Given the description of an element on the screen output the (x, y) to click on. 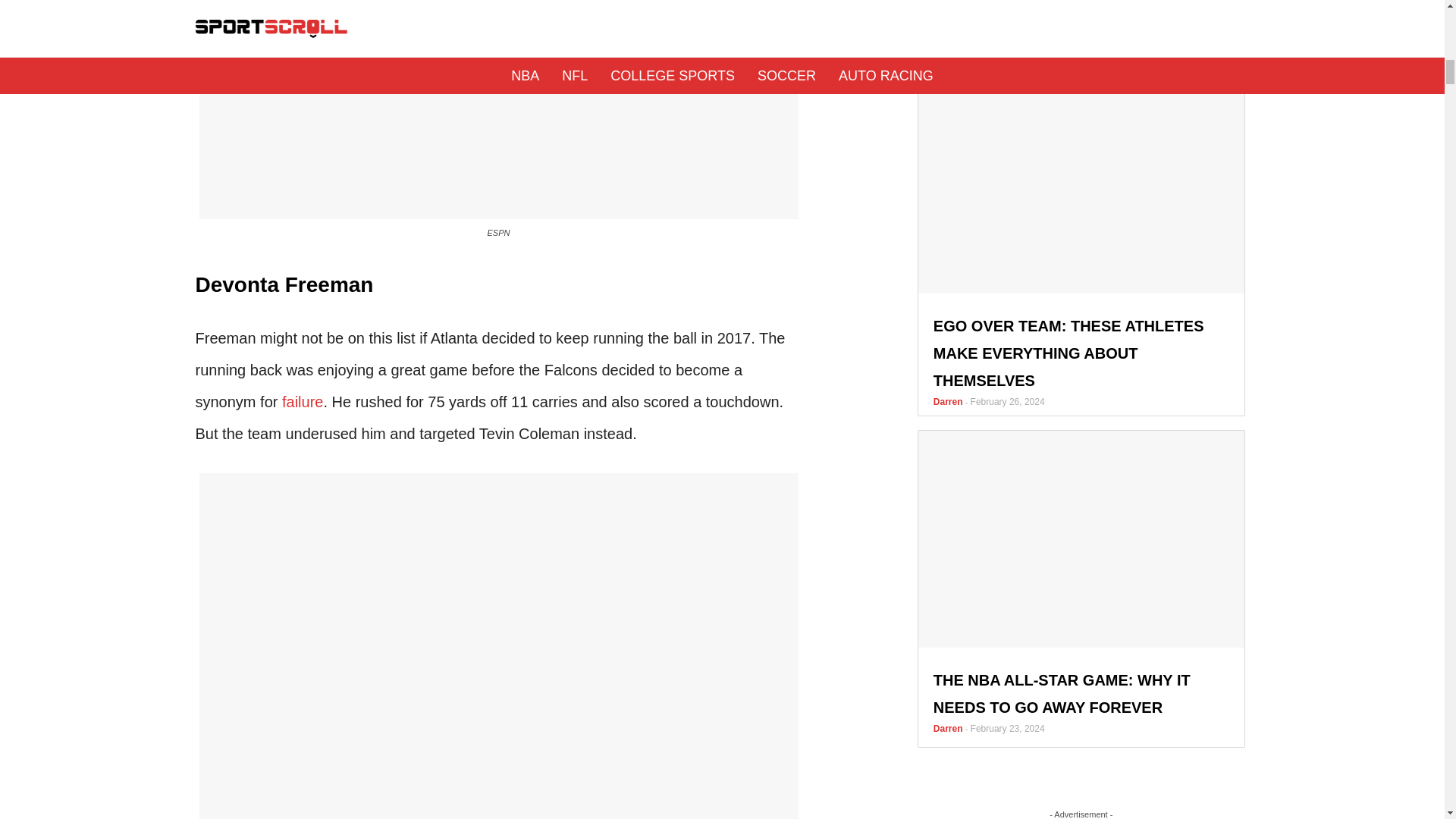
failure (302, 401)
